Given the description of an element on the screen output the (x, y) to click on. 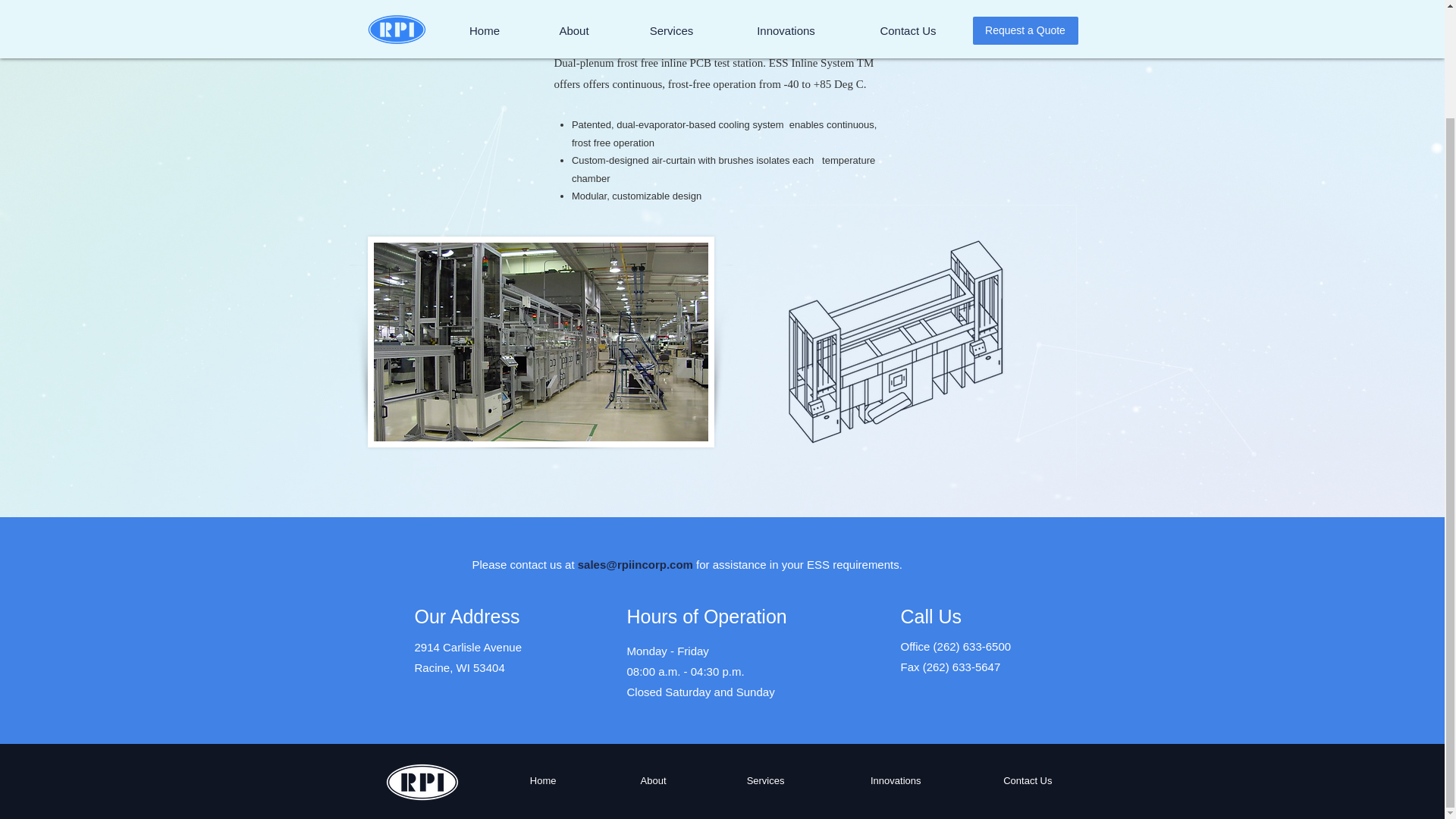
Services (737, 780)
About (622, 780)
Innovations (864, 780)
Contact Us (998, 780)
Home (512, 780)
